Given the description of an element on the screen output the (x, y) to click on. 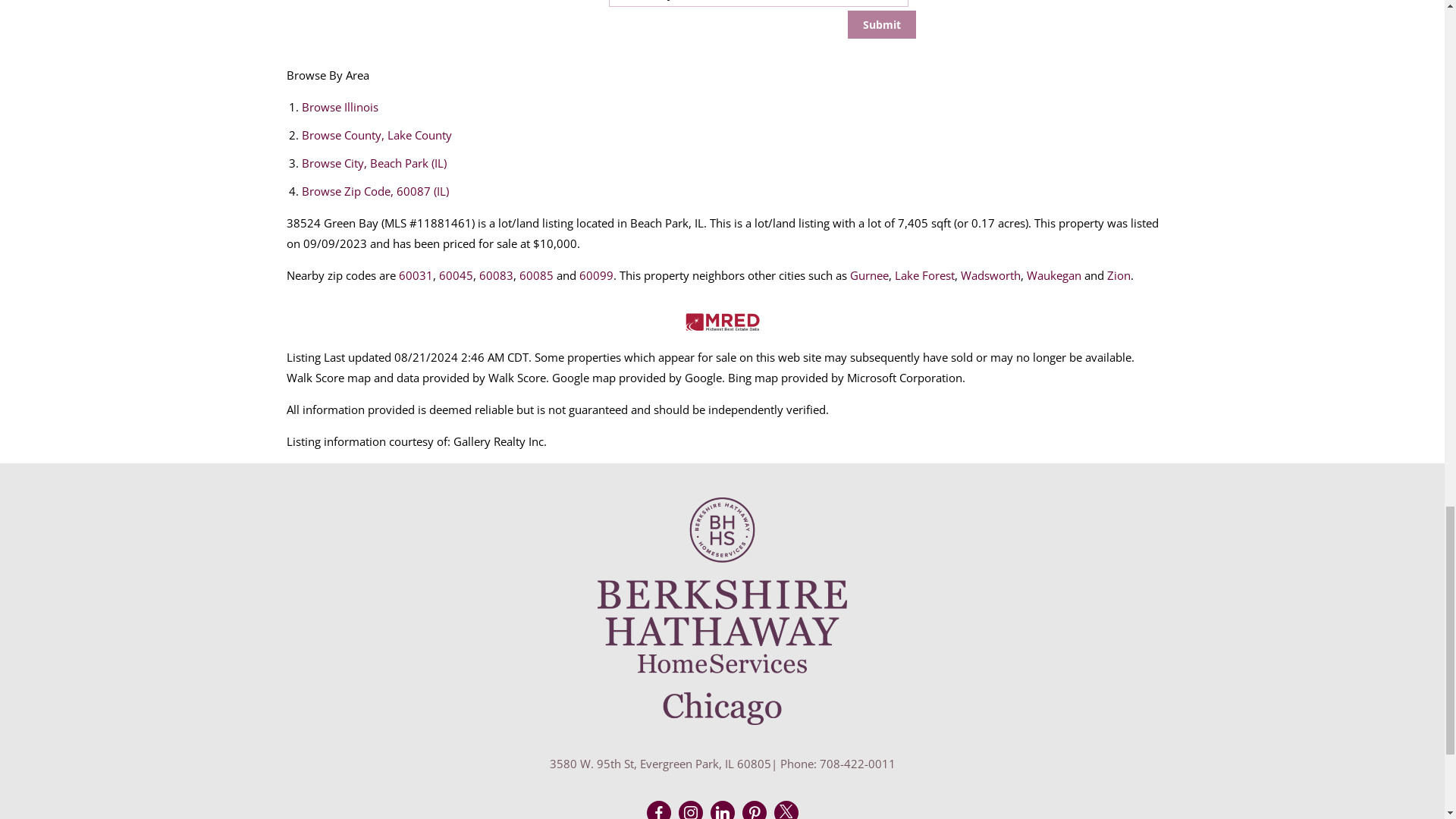
Visit us on Instagram (690, 812)
Visit us on Pinterest (754, 812)
Visit us on Facebook (658, 812)
Visit us on LinkedIn (722, 812)
Visit us on X (785, 811)
